Given the description of an element on the screen output the (x, y) to click on. 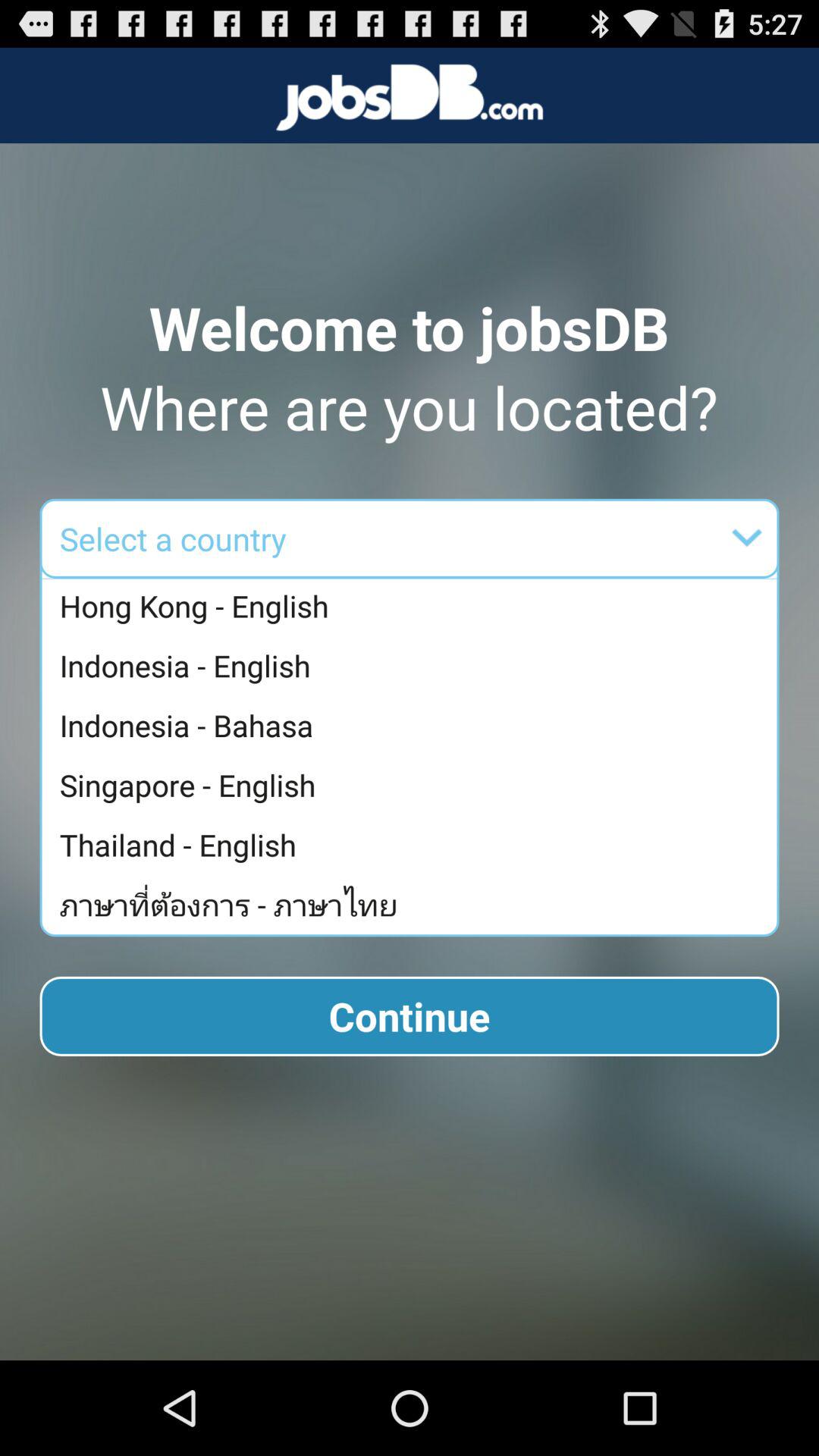
press the thailand - english icon (413, 844)
